Given the description of an element on the screen output the (x, y) to click on. 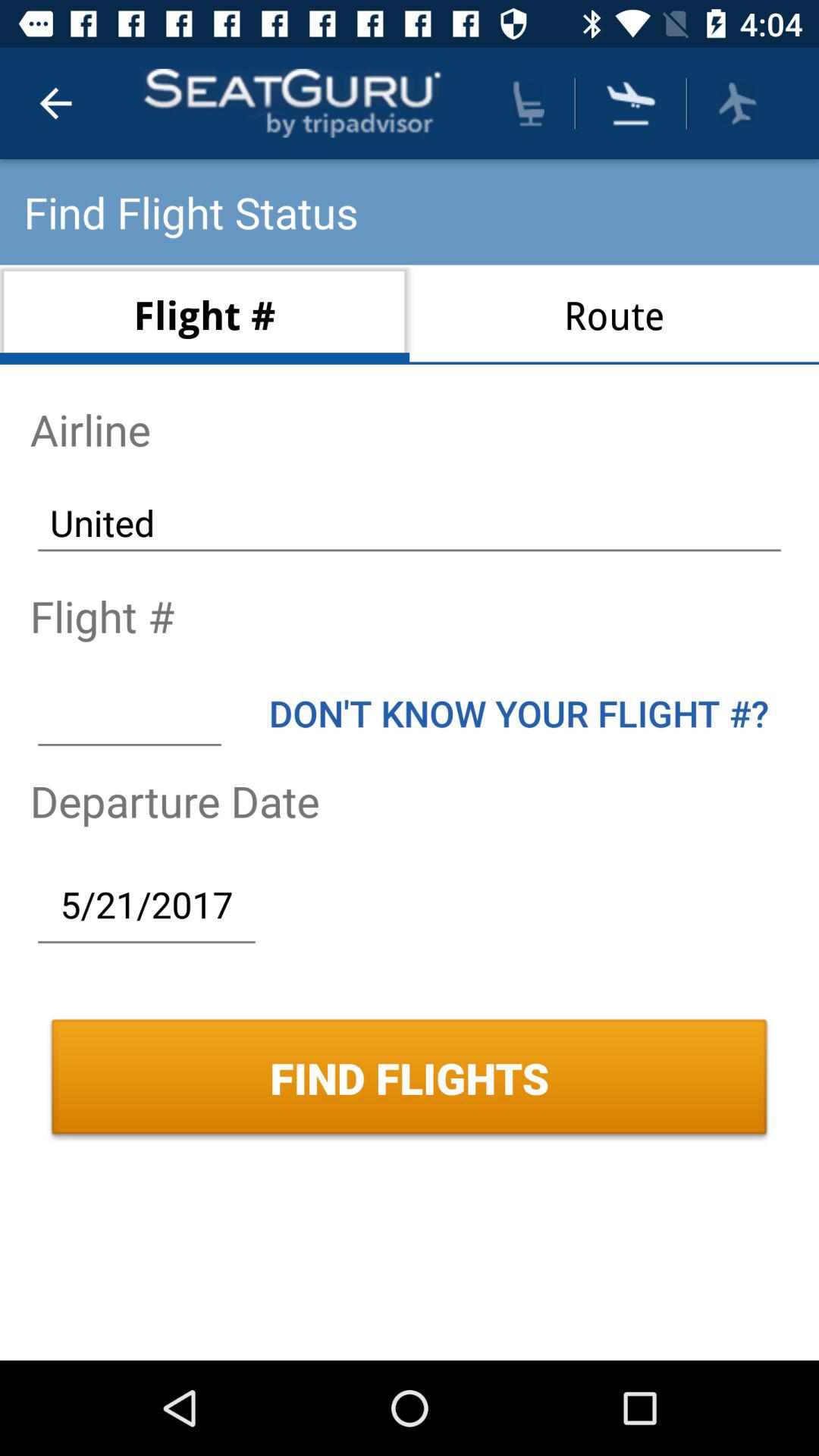
launch the icon above the find flights icon (146, 903)
